Given the description of an element on the screen output the (x, y) to click on. 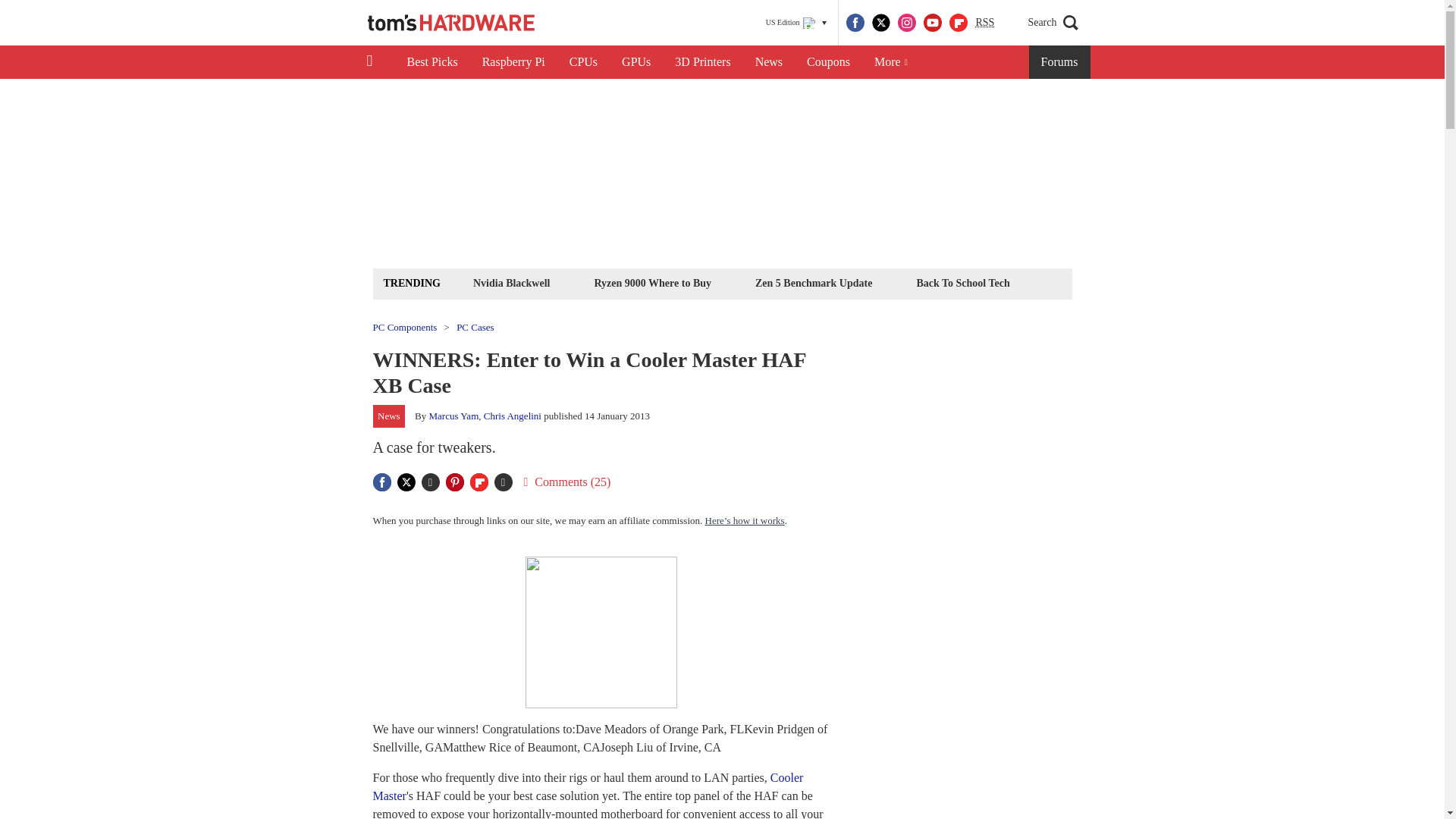
News (768, 61)
Coupons (827, 61)
Forums (1059, 61)
Really Simple Syndication (984, 21)
3D Printers (702, 61)
CPUs (583, 61)
US Edition (796, 22)
Best Picks (431, 61)
GPUs (636, 61)
Raspberry Pi (513, 61)
